Given the description of an element on the screen output the (x, y) to click on. 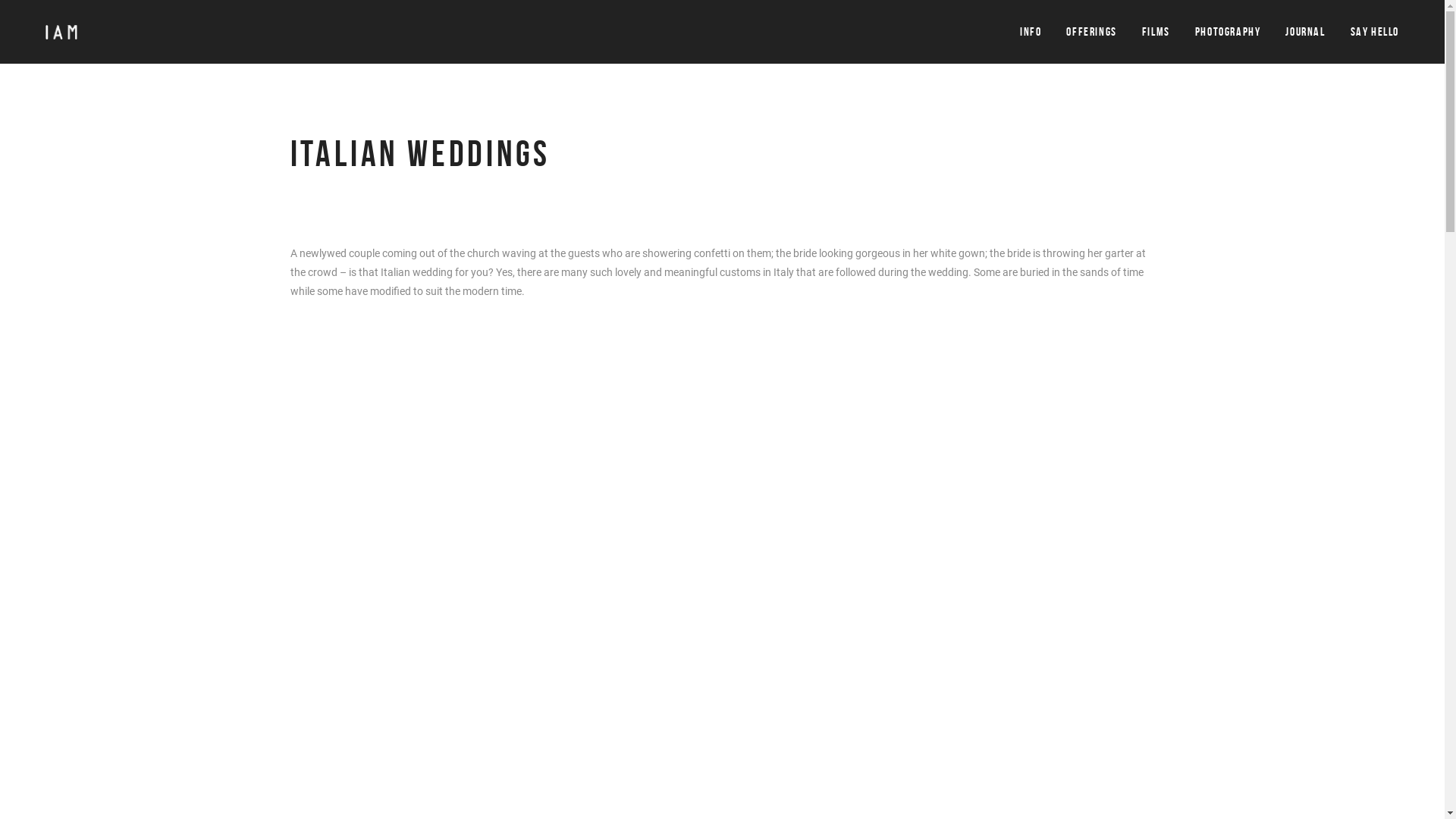
Same Day Edit Element type: text (914, 601)
Wedding Highlights Film Element type: text (937, 577)
SAY HELLO Element type: text (1374, 31)
Subscribe Element type: text (535, 674)
Peta + Chris __ Highlights Film Element type: hover (721, 570)
JOURNAL Element type: text (1304, 31)
PHOTOGRAPHY Element type: text (1228, 31)
Pre Wedding Film Element type: text (921, 552)
Live Stream Wedding Element type: text (930, 625)
In A Maze Wedding Filmmaker and Wedding Photographer Element type: hover (306, 553)
INFO Element type: text (1030, 31)
FILMS Element type: text (1156, 31)
OFFERINGS Element type: text (1091, 31)
